Given the description of an element on the screen output the (x, y) to click on. 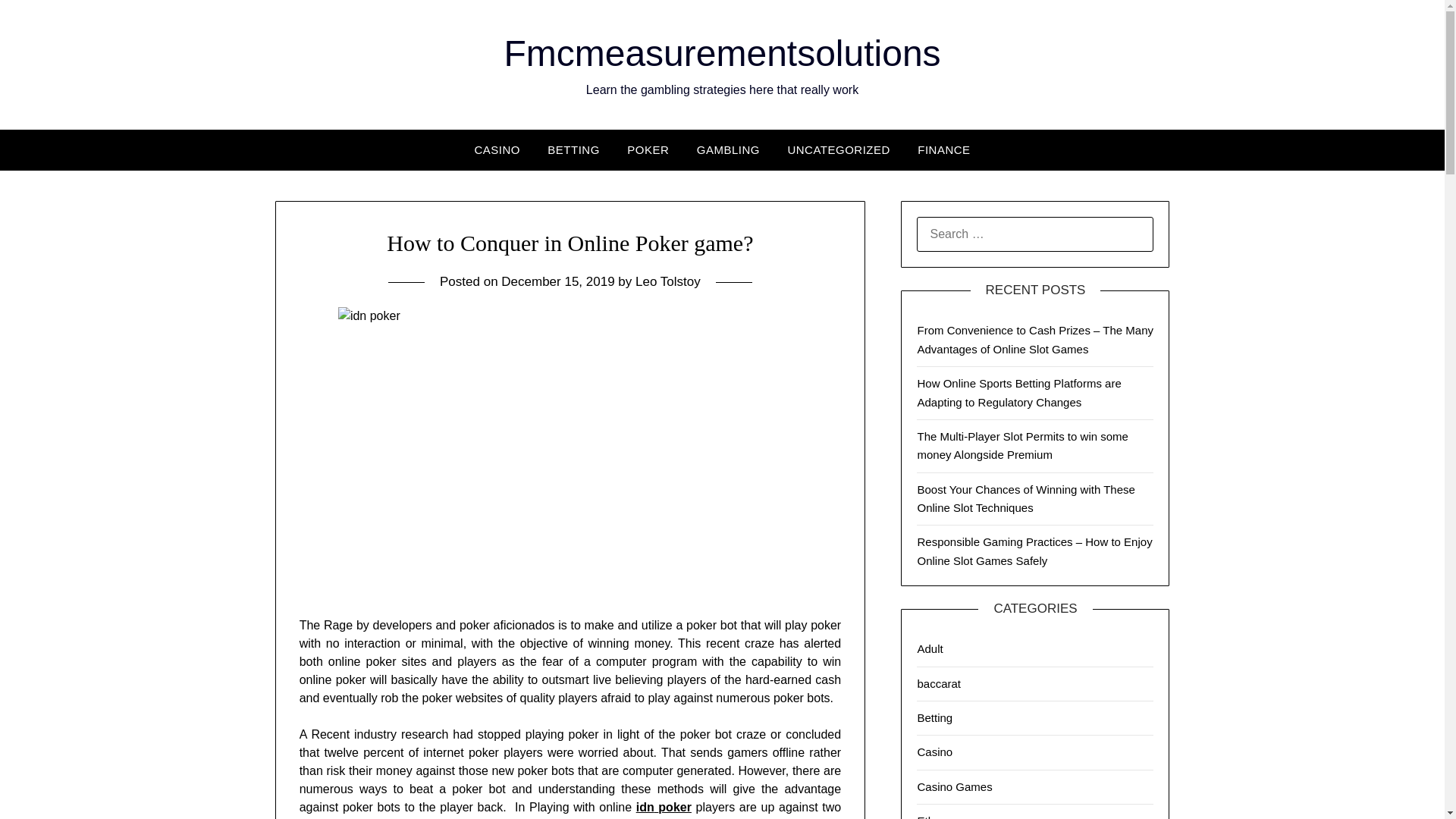
FINANCE (943, 149)
Casino (934, 751)
Ethereum (941, 816)
baccarat (938, 682)
Betting (934, 717)
GAMBLING (727, 149)
Leo Tolstoy (667, 281)
UNCATEGORIZED (837, 149)
POKER (647, 149)
idn poker (663, 807)
Search (38, 22)
BETTING (573, 149)
Casino Games (954, 786)
